Given the description of an element on the screen output the (x, y) to click on. 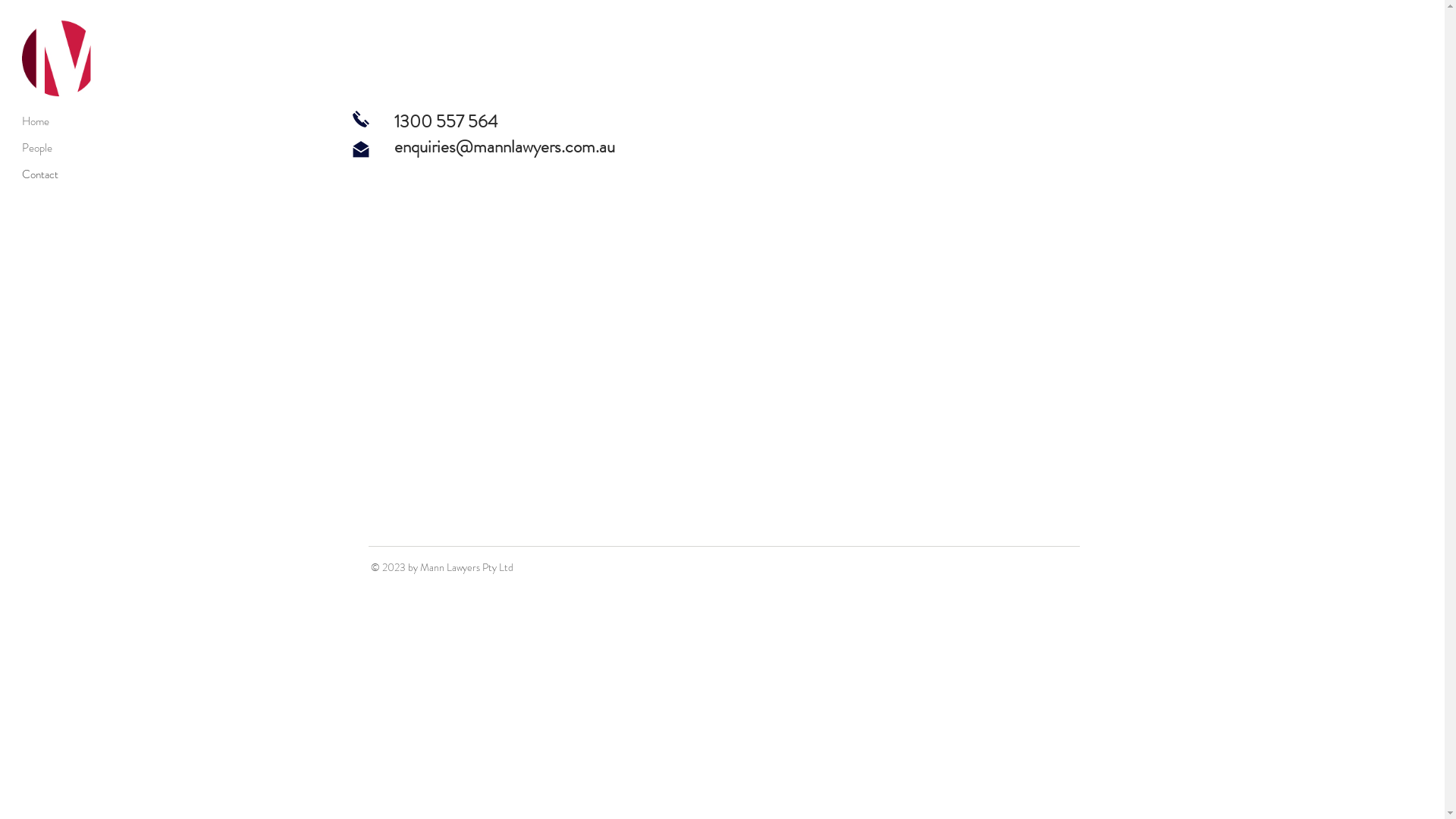
Home Element type: text (74, 121)
People Element type: text (74, 147)
enquiries@mannlawyers.com.au Element type: text (504, 146)
Google Maps Element type: hover (721, 364)
Contact Element type: text (74, 174)
